Given the description of an element on the screen output the (x, y) to click on. 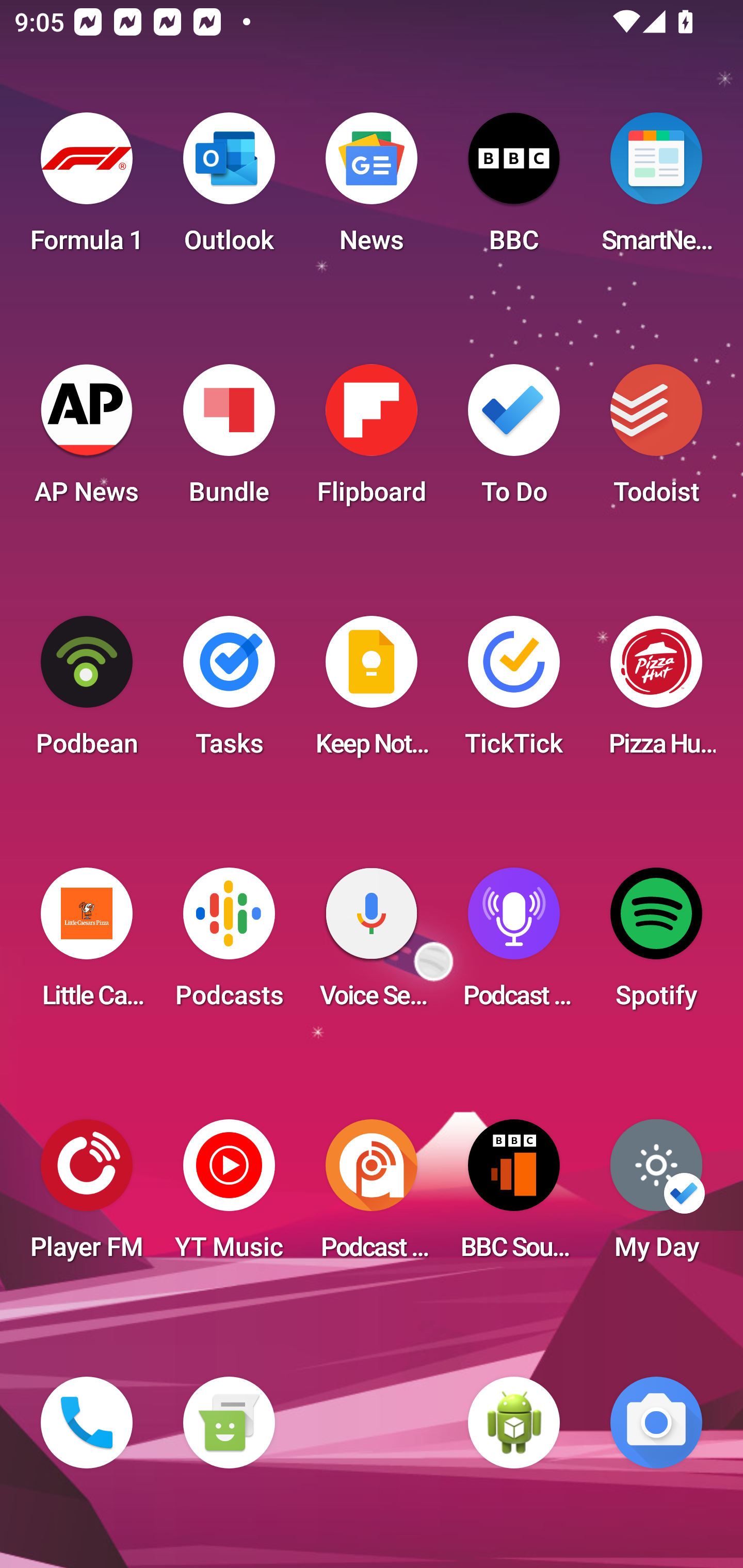
Formula 1 (86, 188)
Outlook (228, 188)
News (371, 188)
BBC (513, 188)
SmartNews (656, 188)
AP News (86, 440)
Bundle (228, 440)
Flipboard (371, 440)
To Do (513, 440)
Todoist (656, 440)
Podbean (86, 692)
Tasks (228, 692)
Keep Notes (371, 692)
TickTick (513, 692)
Pizza Hut HK & Macau (656, 692)
Little Caesars Pizza (86, 943)
Podcasts (228, 943)
Voice Search (371, 943)
Podcast Player (513, 943)
Spotify (656, 943)
Player FM (86, 1195)
YT Music (228, 1195)
Podcast Addict (371, 1195)
BBC Sounds (513, 1195)
My Day (656, 1195)
Phone (86, 1422)
Messaging (228, 1422)
WebView Browser Tester (513, 1422)
Camera (656, 1422)
